Given the description of an element on the screen output the (x, y) to click on. 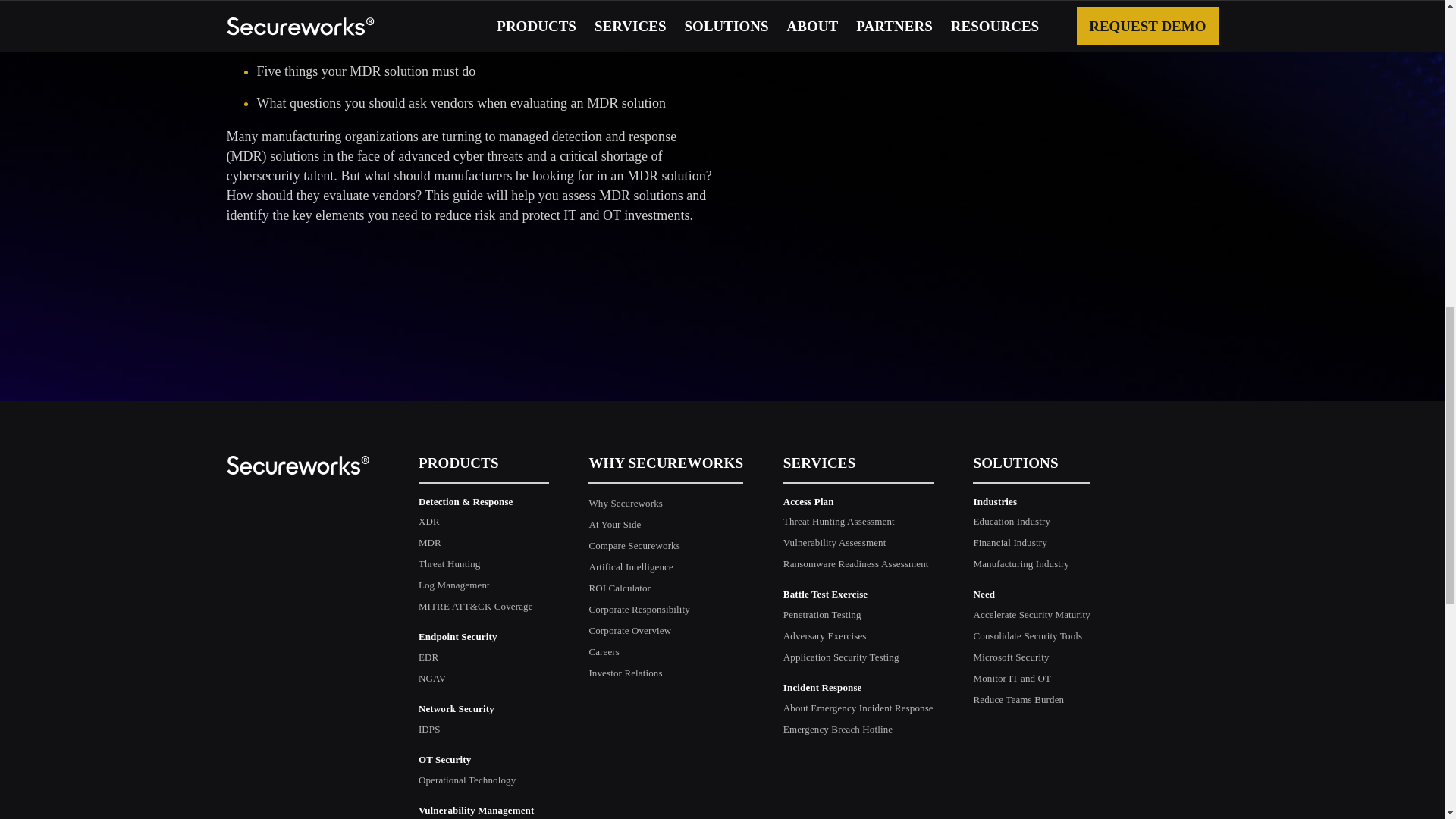
Artifical Intelligence (630, 566)
Corporate Responsibility (638, 609)
IDPS (430, 728)
Operational Technology (467, 779)
Careers (604, 651)
At Your Side (614, 523)
Secureworks, Inc. (296, 467)
Log Management (454, 584)
XDR (429, 521)
MDR (430, 542)
